Given the description of an element on the screen output the (x, y) to click on. 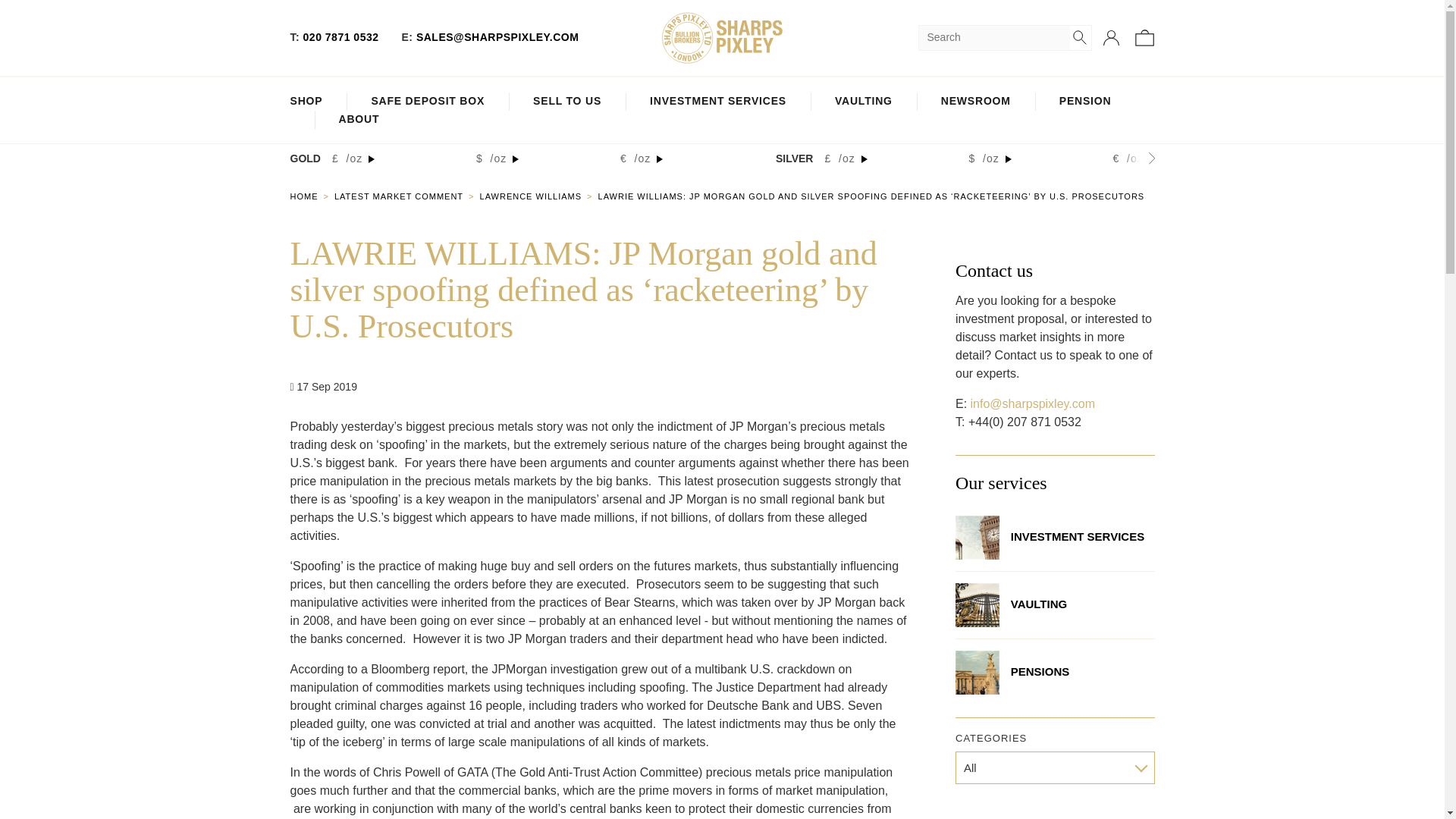
Vaulting (863, 101)
About (357, 119)
Sell to us (566, 101)
020 7871 0532 (340, 37)
Newsroom (975, 101)
Safe Deposit Boxes in London (427, 101)
Buy gold online (311, 195)
Pension (1085, 101)
SHOP (305, 101)
Investment Services (717, 101)
